Given the description of an element on the screen output the (x, y) to click on. 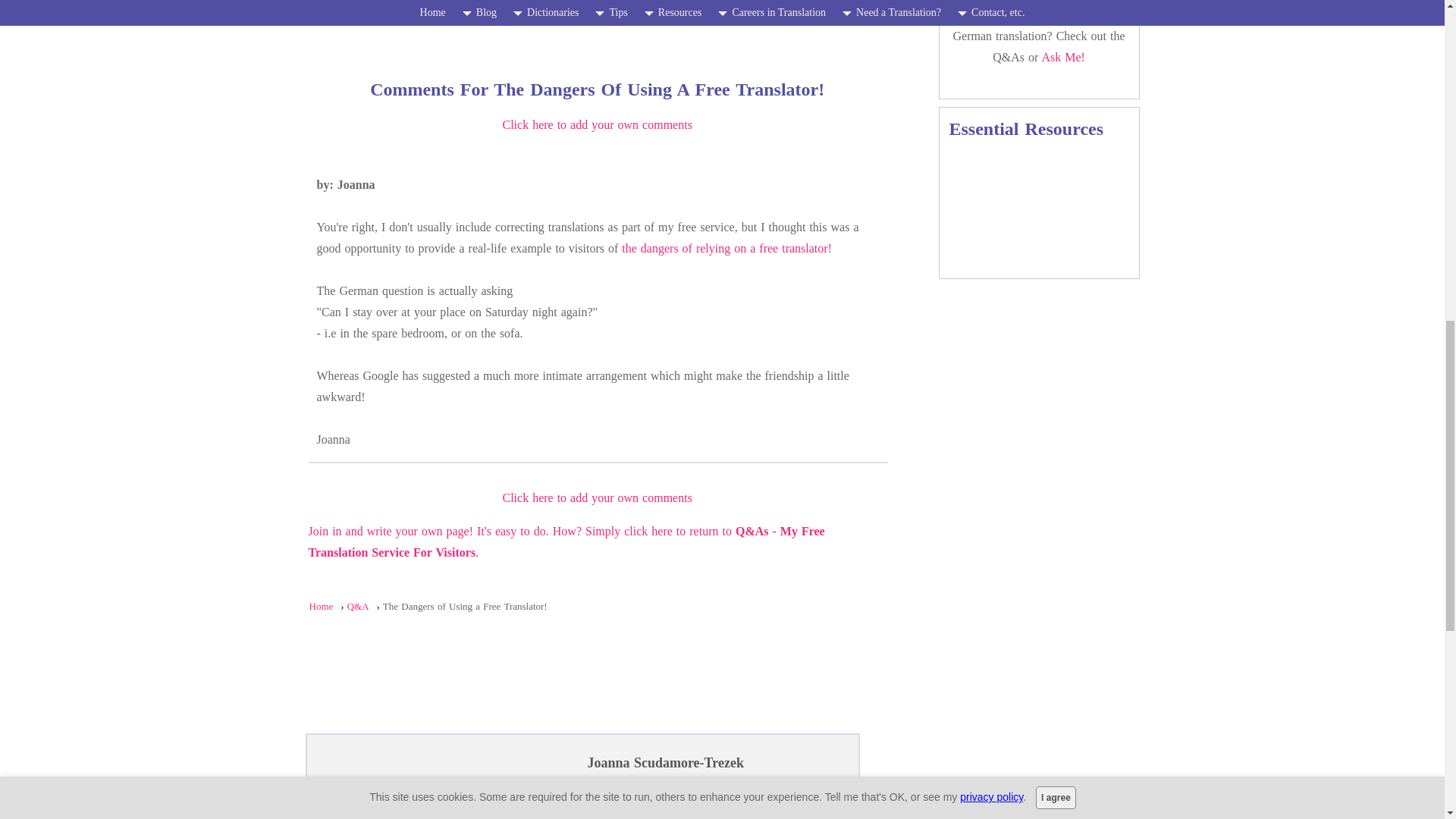
the dangers of relying on a free translator! (726, 247)
Click here to add your own comments (596, 124)
Click here to add your own comments (596, 497)
